Given the description of an element on the screen output the (x, y) to click on. 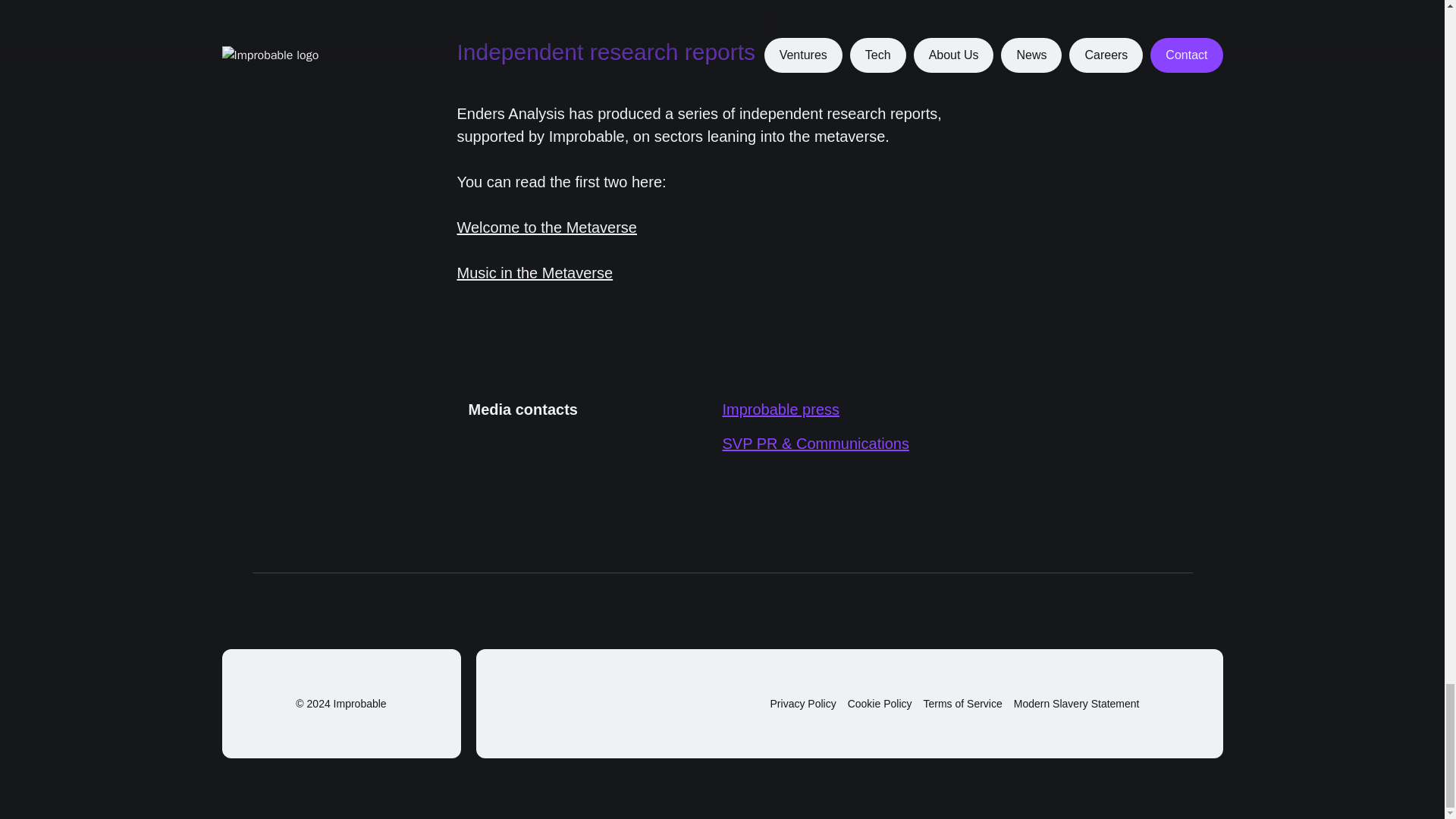
Music in the Metaverse (534, 272)
Cookie Policy (879, 703)
Welcome to the Metaverse (547, 227)
Terms of Service (963, 703)
Modern Slavery Statement (1076, 703)
Improbable press (781, 409)
Privacy Policy (802, 703)
